Given the description of an element on the screen output the (x, y) to click on. 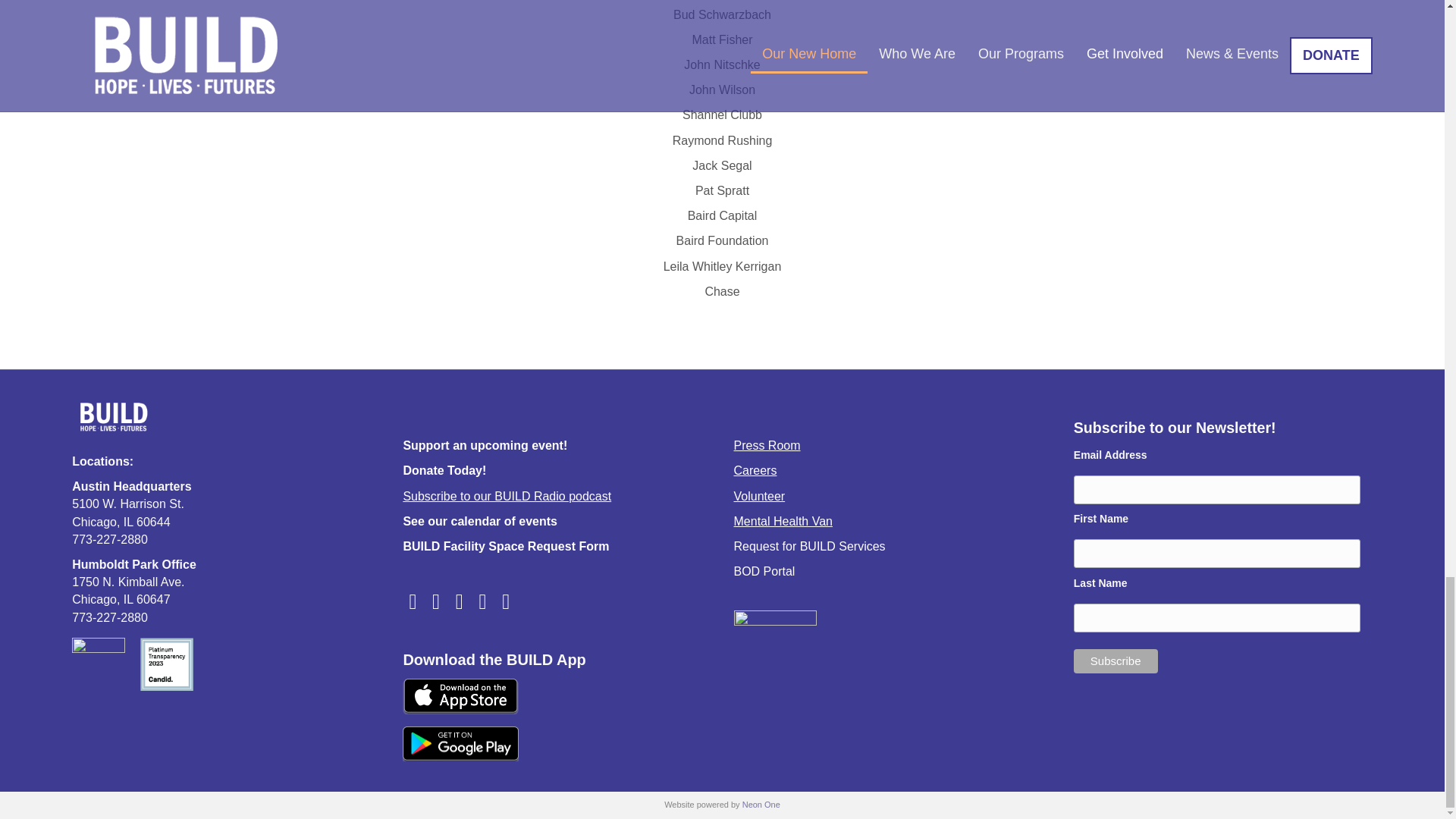
Support an upcoming event! (485, 445)
Subscribe (1115, 661)
Donate Today! (444, 470)
Subscribe to our BUILD Radio podcast (507, 495)
